Given the description of an element on the screen output the (x, y) to click on. 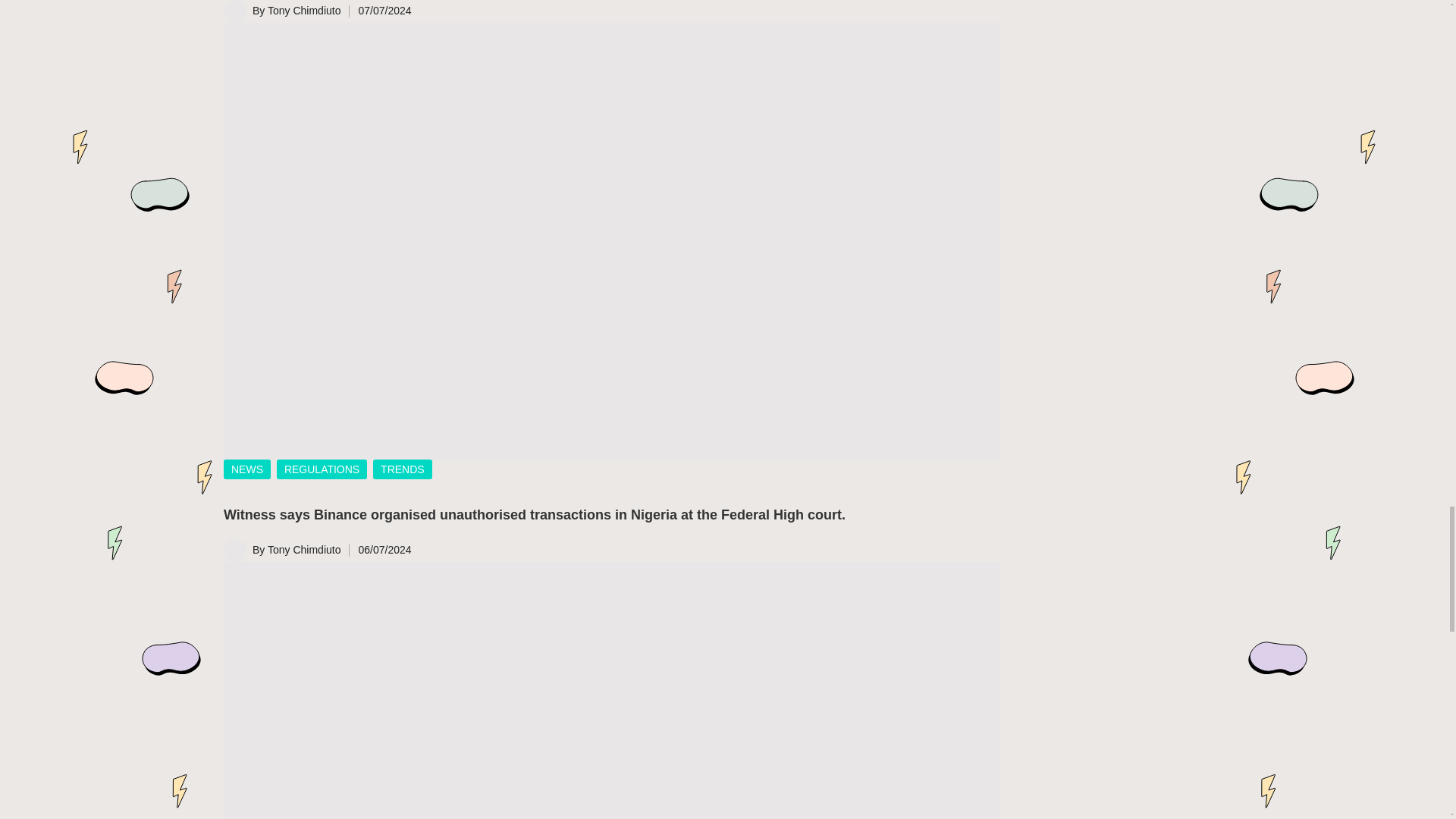
View all posts by Tony Chimdiuto (303, 10)
View all posts by Tony Chimdiuto (303, 549)
